Given the description of an element on the screen output the (x, y) to click on. 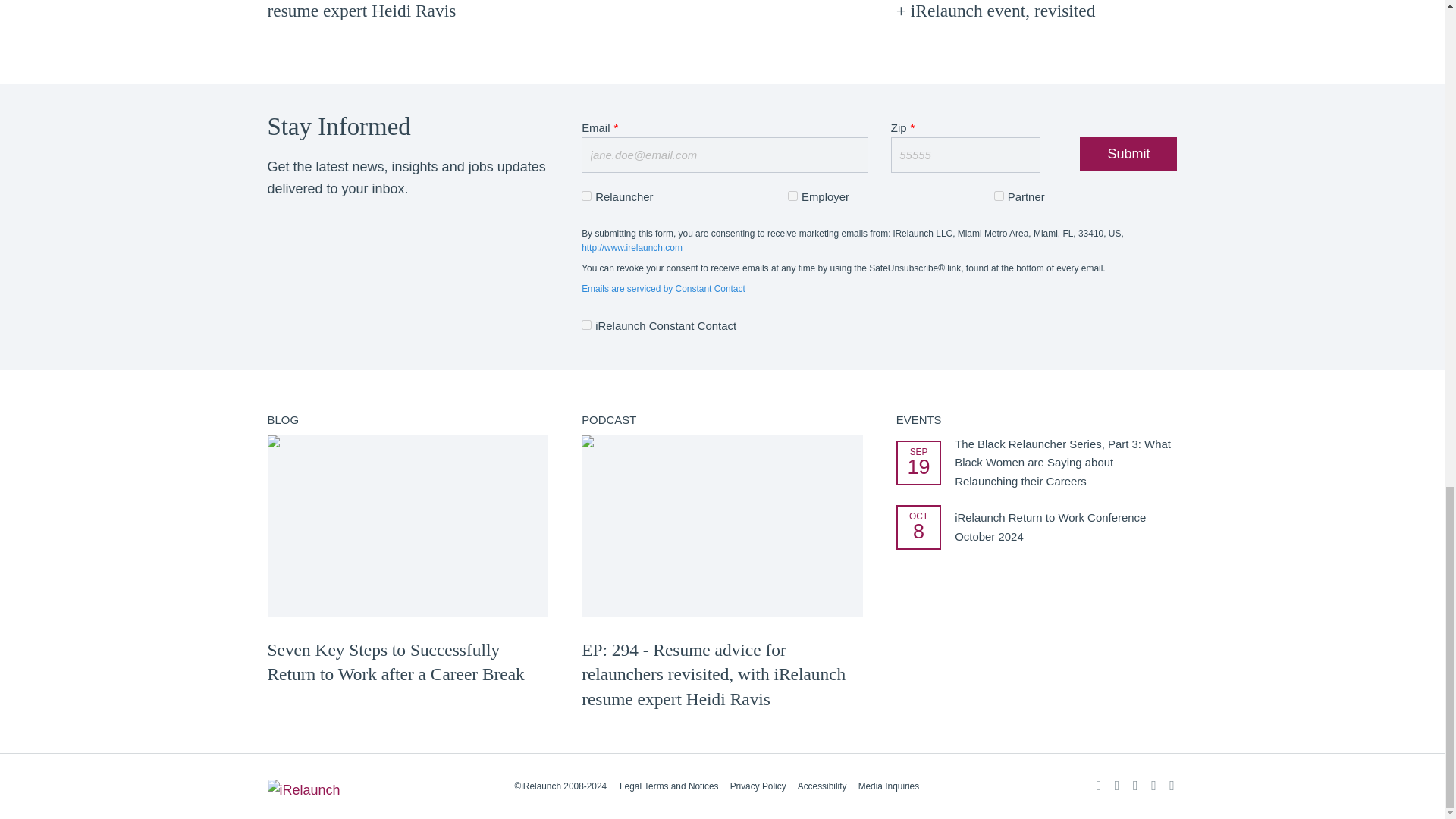
yes (792, 195)
yes (585, 325)
yes (999, 195)
yes (585, 195)
